Given the description of an element on the screen output the (x, y) to click on. 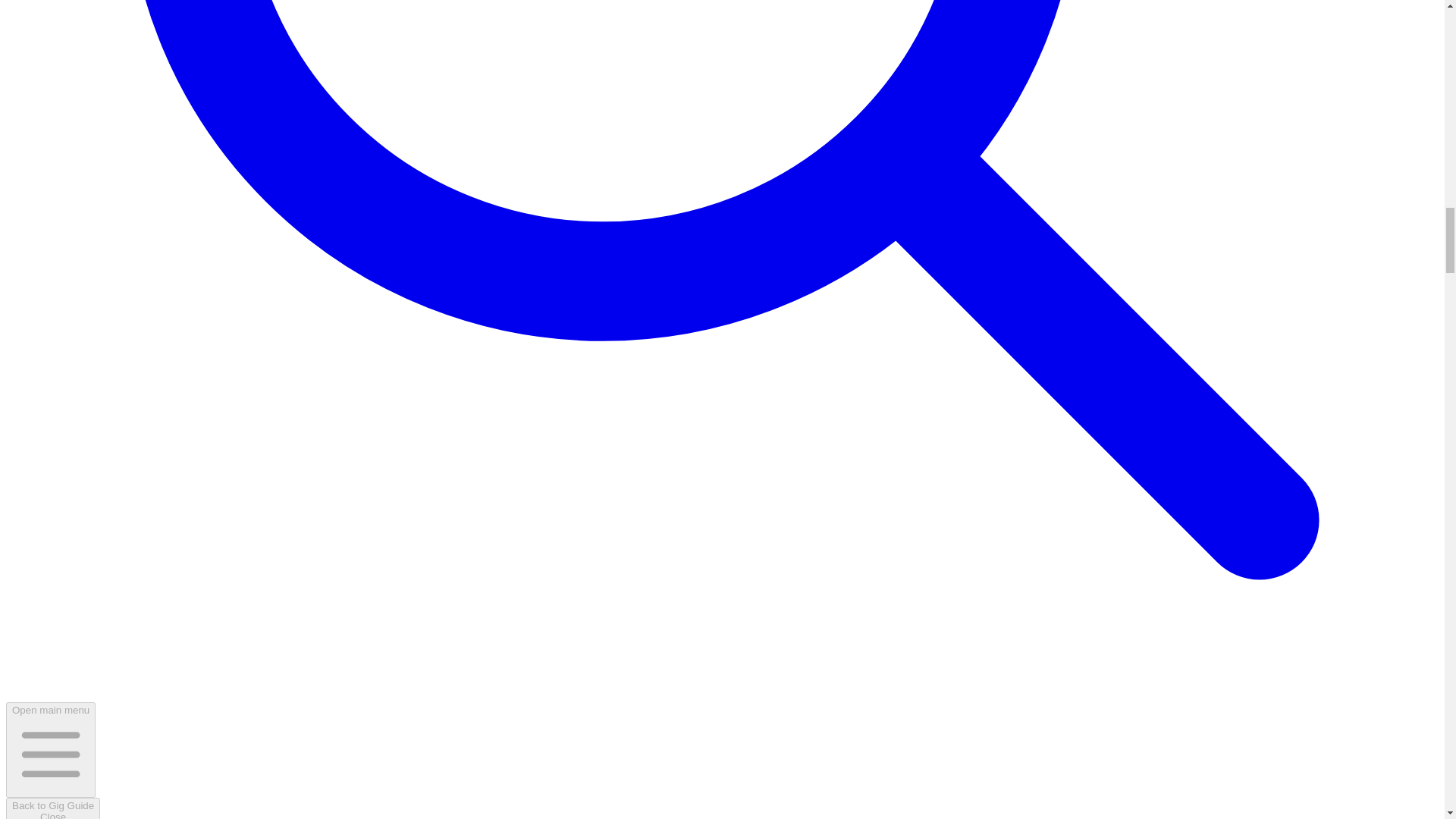
Open main menu (52, 808)
